Given the description of an element on the screen output the (x, y) to click on. 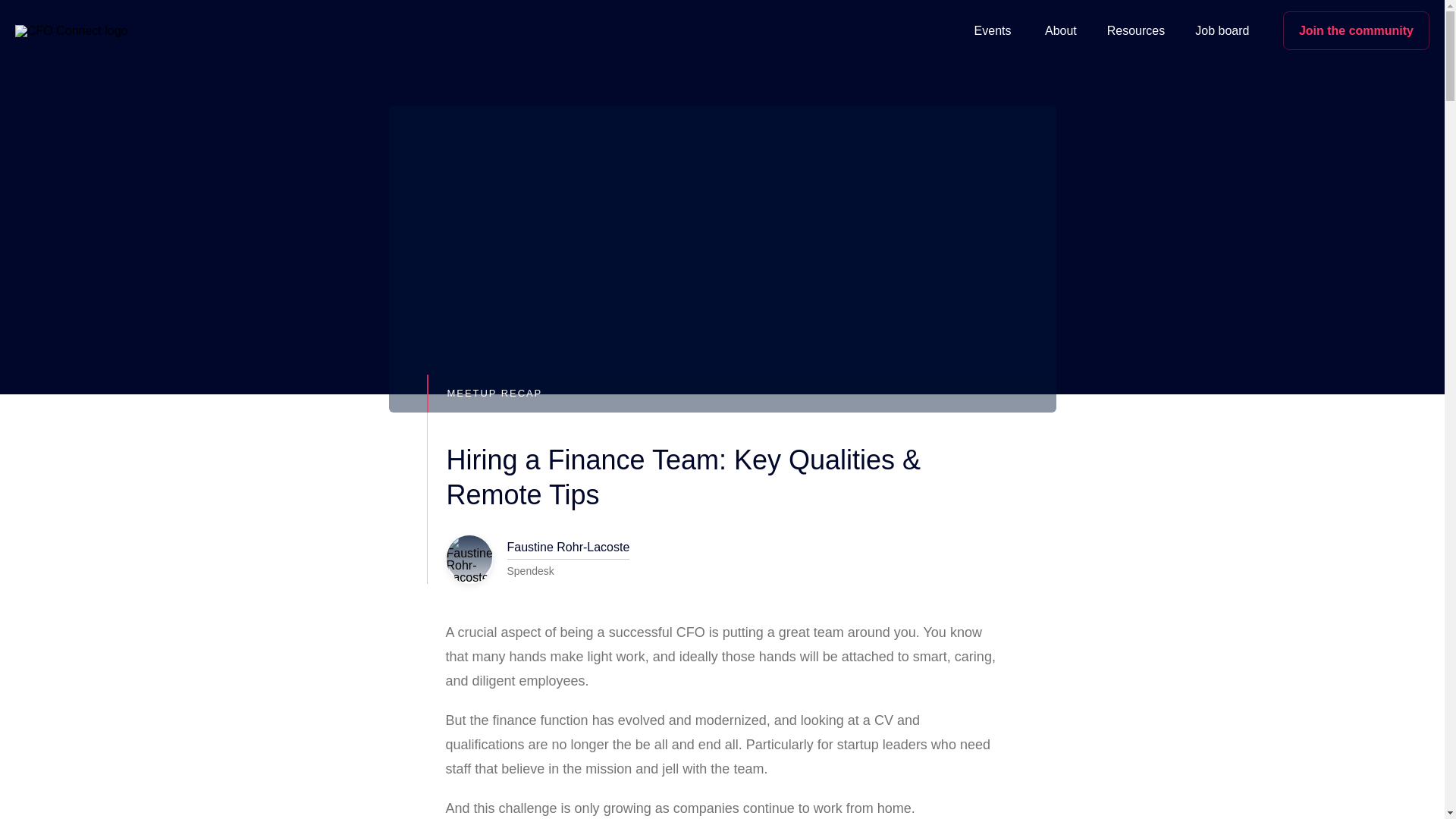
About (1060, 30)
Join the community (1355, 30)
Resources (1135, 30)
Events (992, 30)
Job board (1221, 30)
